Given the description of an element on the screen output the (x, y) to click on. 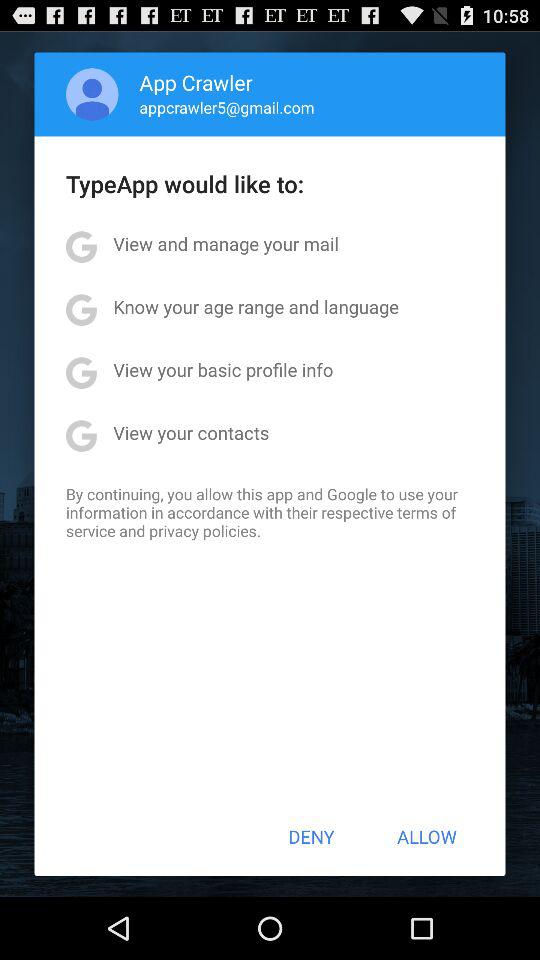
launch the app above typeapp would like (226, 107)
